Given the description of an element on the screen output the (x, y) to click on. 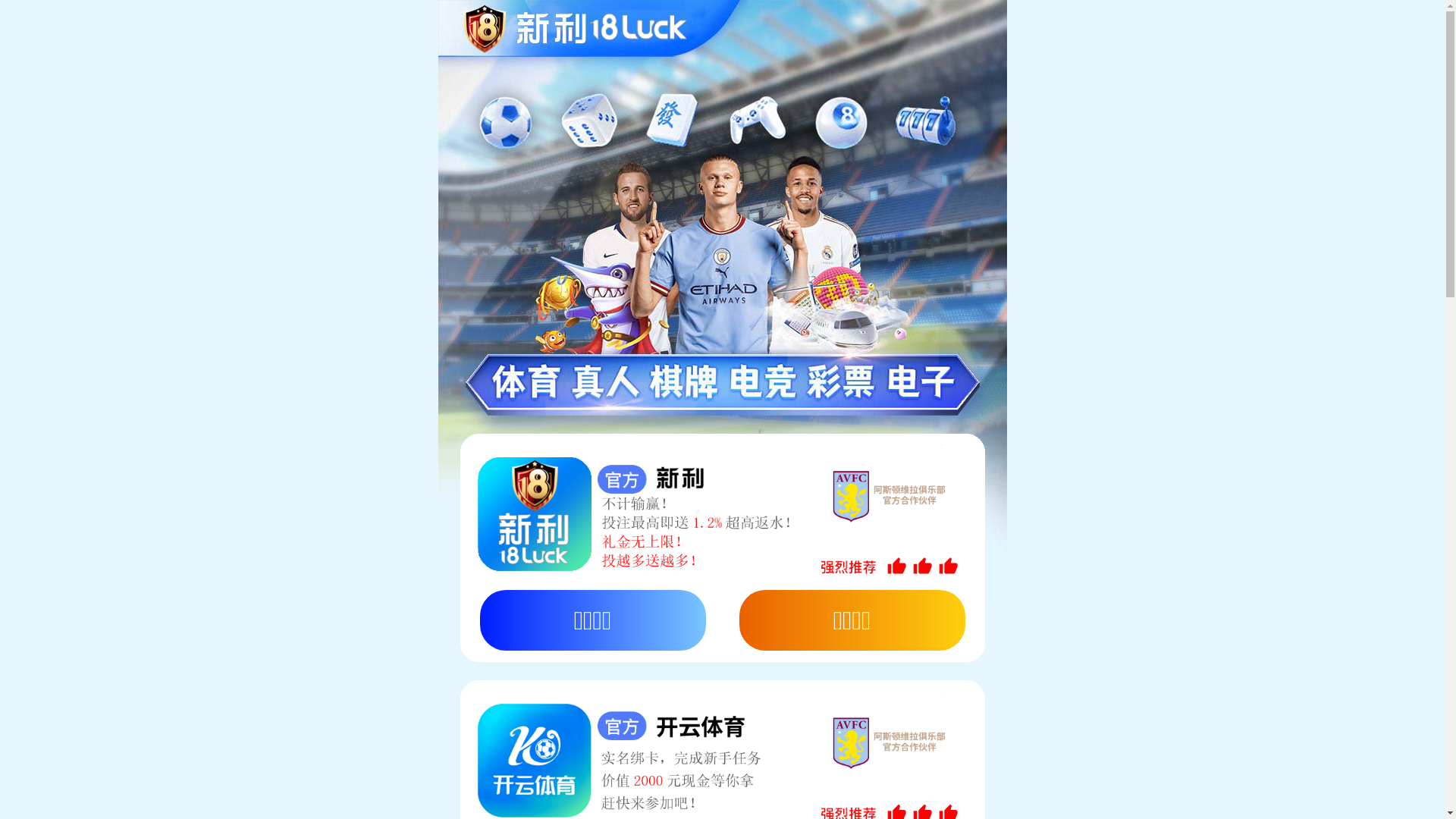
ENGLISH Element type: text (1162, 14)
prev Element type: text (47, 362)
xiaoshou@sdhainuojixie.com Element type: text (1004, 17)
next Element type: text (1414, 362)
